Given the description of an element on the screen output the (x, y) to click on. 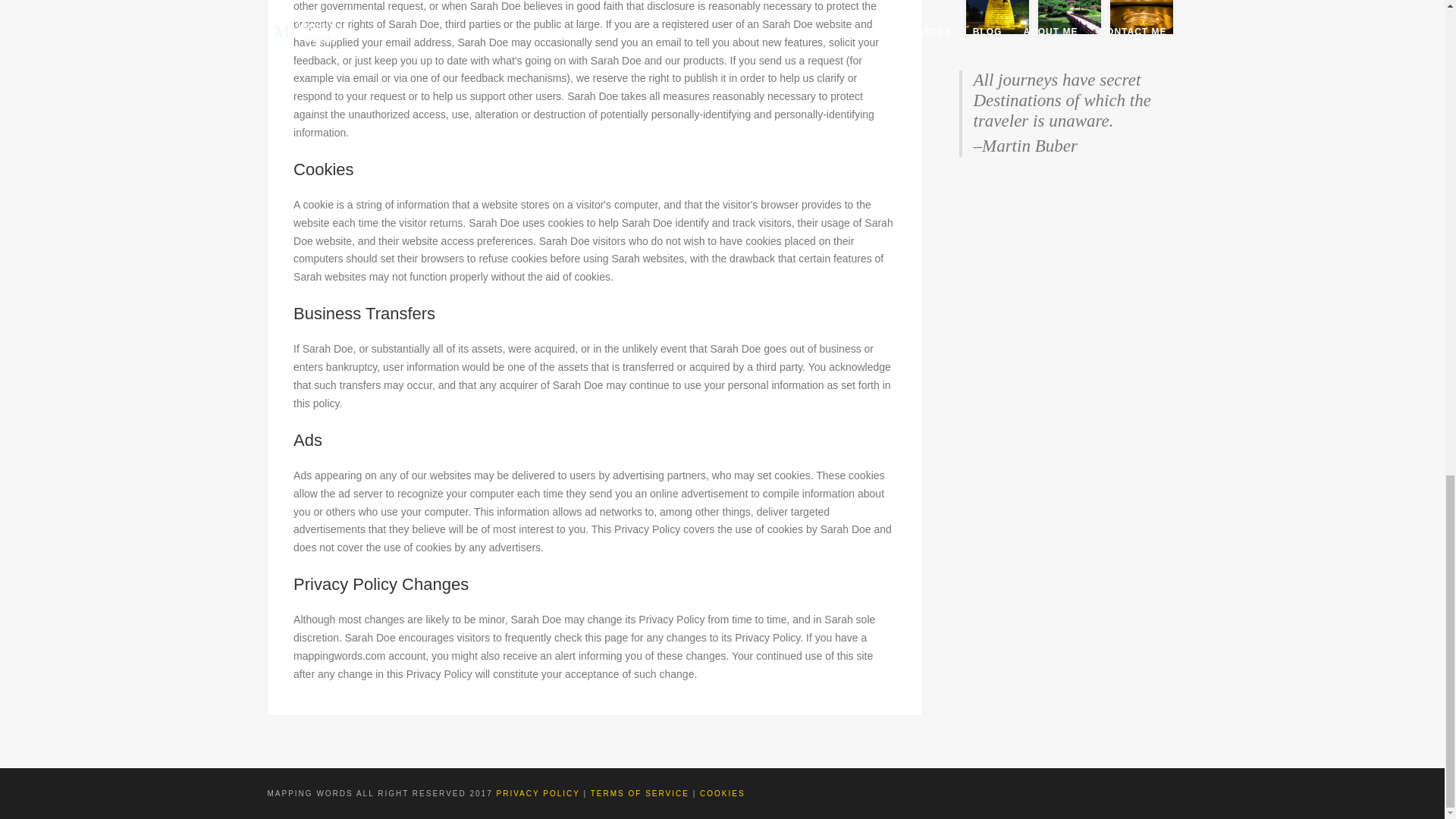
COOKIES (722, 793)
Donggung Palace and Wolji Pond in Gyeongju (1069, 17)
Gold Museum Bogota (1141, 17)
PRIVACY POLICY (539, 793)
Cheomseongdae Observatory (997, 17)
TERMS OF SERVICE (639, 793)
